Given the description of an element on the screen output the (x, y) to click on. 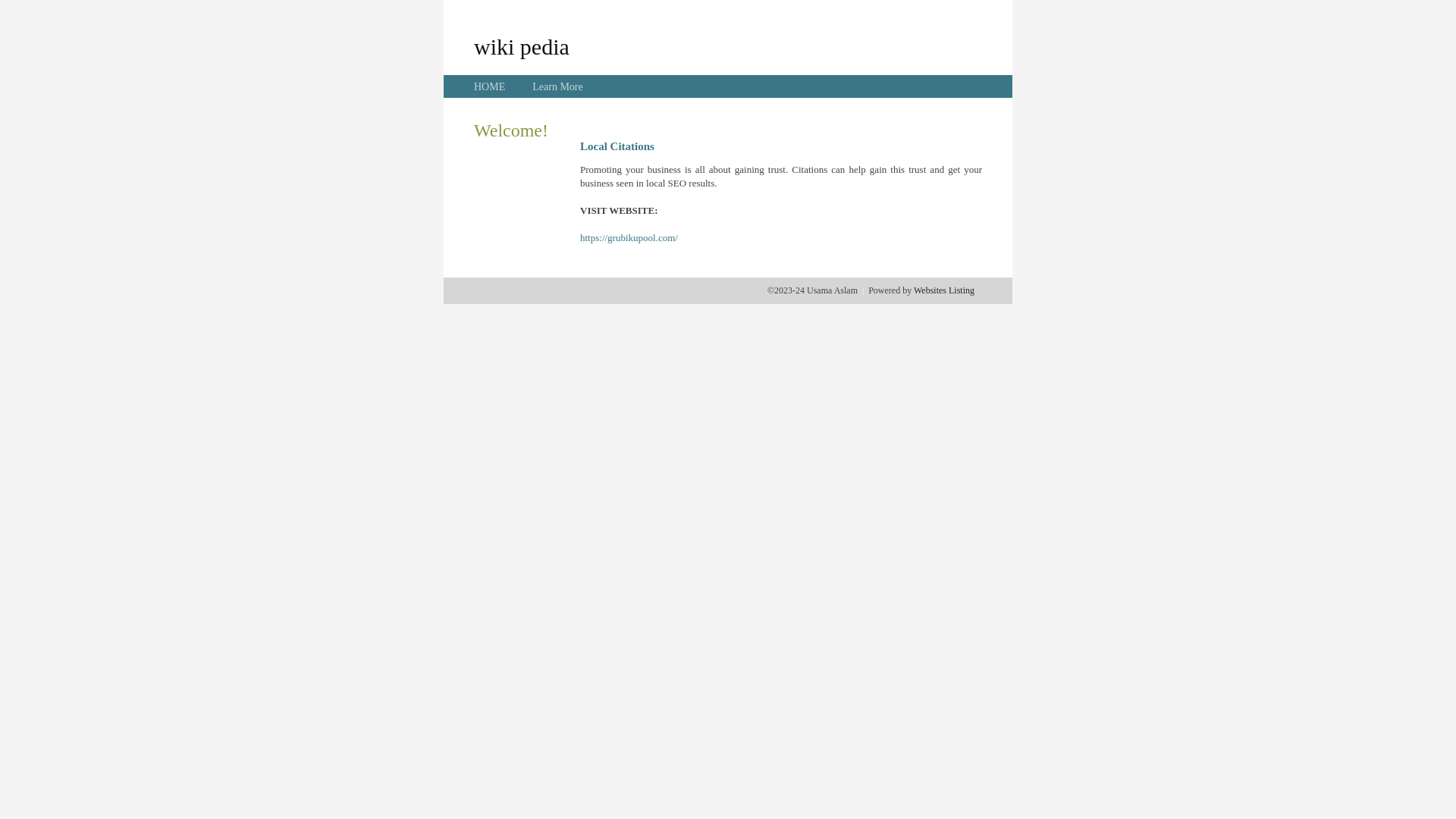
HOME Element type: text (489, 86)
https://grubikupool.com/ Element type: text (628, 237)
wiki pedia Element type: text (521, 46)
Websites Listing Element type: text (943, 290)
Learn More Element type: text (557, 86)
